Given the description of an element on the screen output the (x, y) to click on. 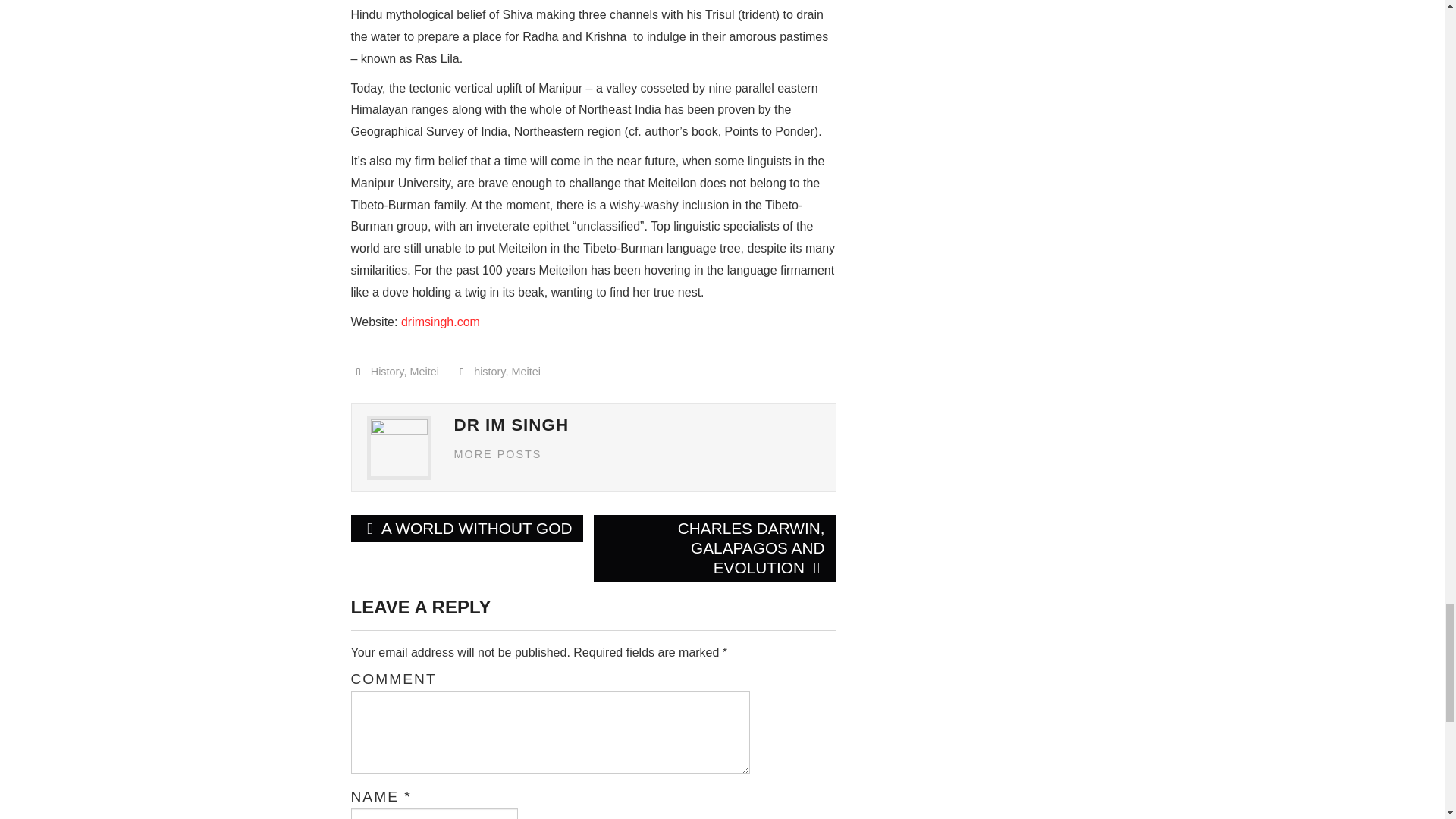
MORE POSTS (496, 453)
history (489, 371)
drimsingh.com (440, 321)
A WORLD WITHOUT GOD (466, 528)
Meitei (525, 371)
History (387, 371)
Meitei (423, 371)
CHARLES DARWIN, GALAPAGOS AND EVOLUTION (713, 548)
